Given the description of an element on the screen output the (x, y) to click on. 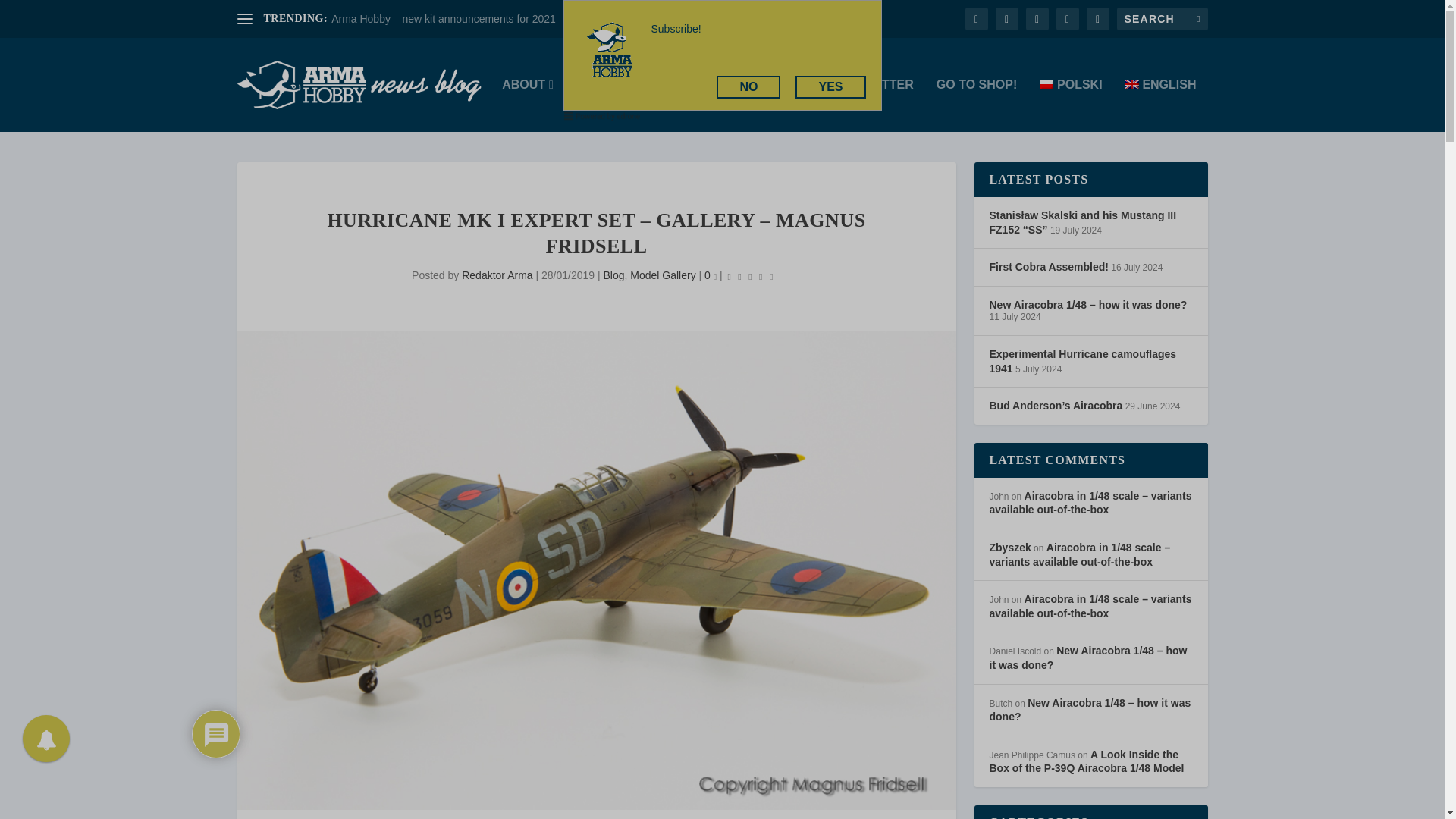
GO TO SHOP! (976, 104)
Sklep modelarski Arma Hobby (976, 104)
English (1160, 104)
edrone marketing automation (602, 118)
REVIEWS (779, 104)
ENGLISH (1160, 104)
NEWSLETTER (871, 104)
ABOUT (527, 104)
HISTORY (702, 104)
polski (1070, 104)
Rating: 0.00 (750, 275)
Posts by Redaktor Arma (496, 275)
POLSKI (1070, 104)
Search for: (1161, 18)
PRODUCTS (614, 104)
